Given the description of an element on the screen output the (x, y) to click on. 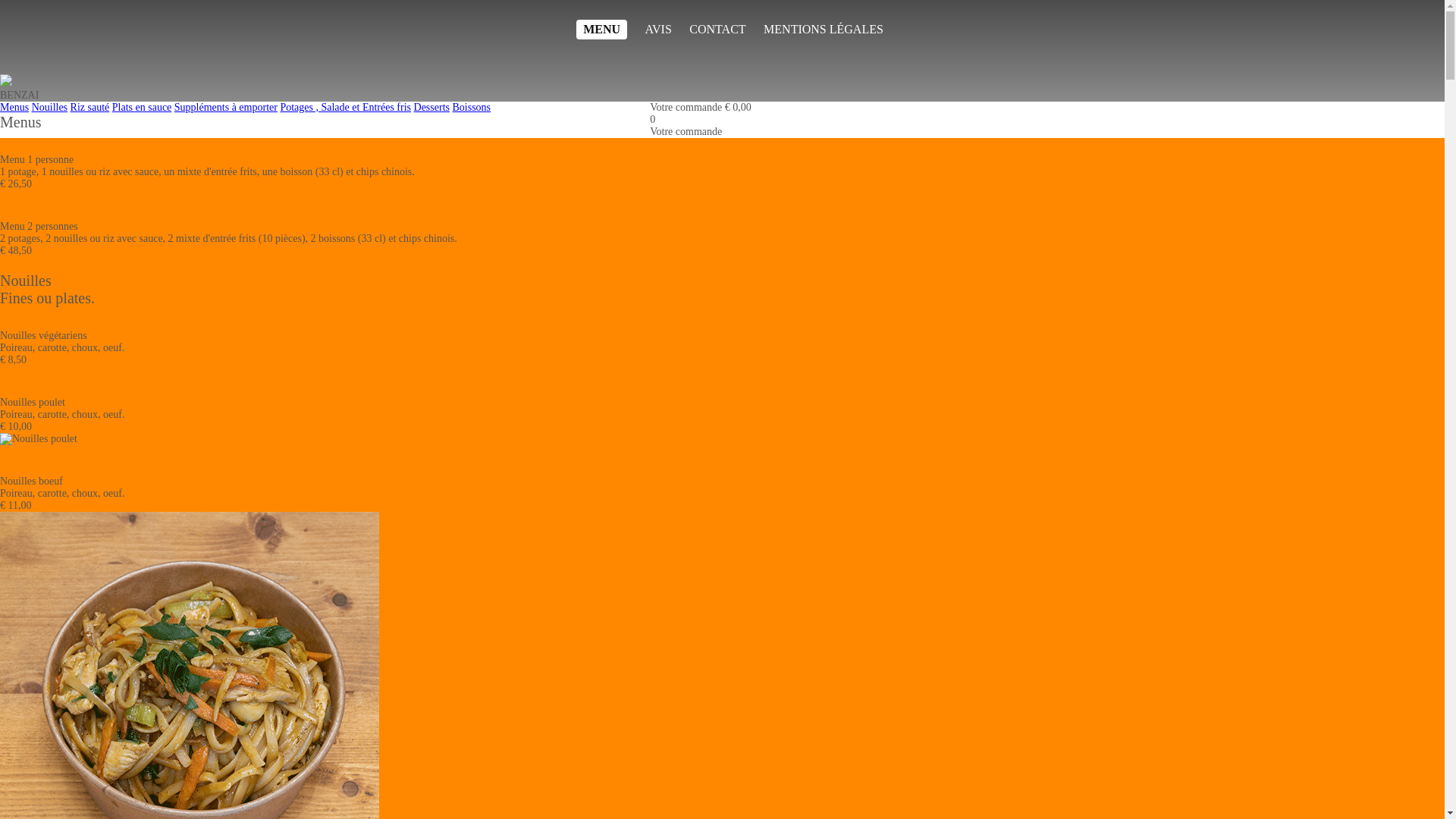
Desserts Element type: text (431, 106)
AVIS Element type: text (658, 29)
CONTACT Element type: text (717, 29)
Menus Element type: text (14, 106)
MENU Element type: text (601, 29)
Plats en sauce Element type: text (142, 106)
Boissons Element type: text (470, 106)
Nouilles Element type: text (49, 106)
